Given the description of an element on the screen output the (x, y) to click on. 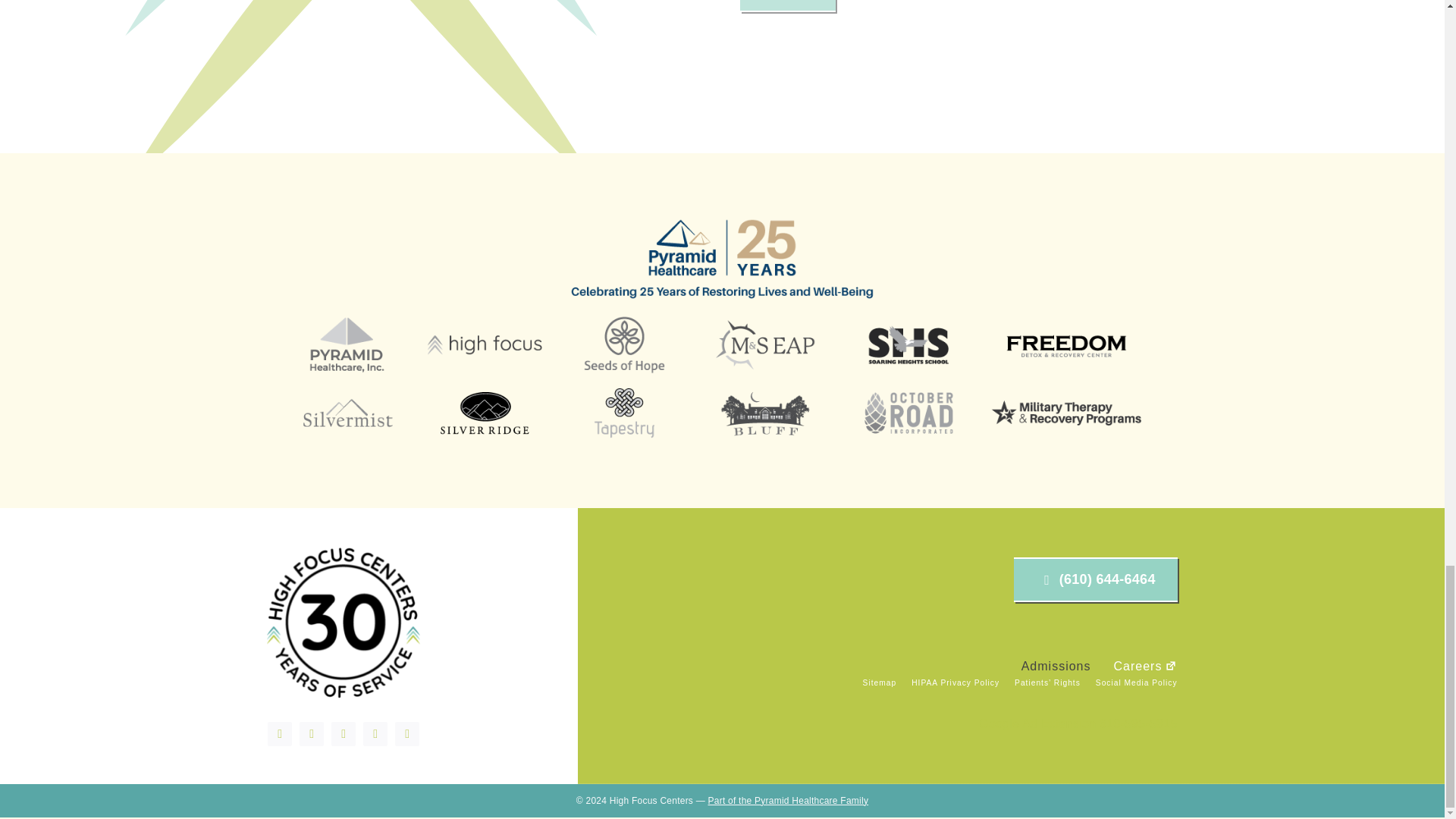
Get Help (787, 6)
Phone (406, 733)
Facebook (279, 733)
LinkedIn (374, 733)
X (311, 733)
Instagram (343, 733)
